Given the description of an element on the screen output the (x, y) to click on. 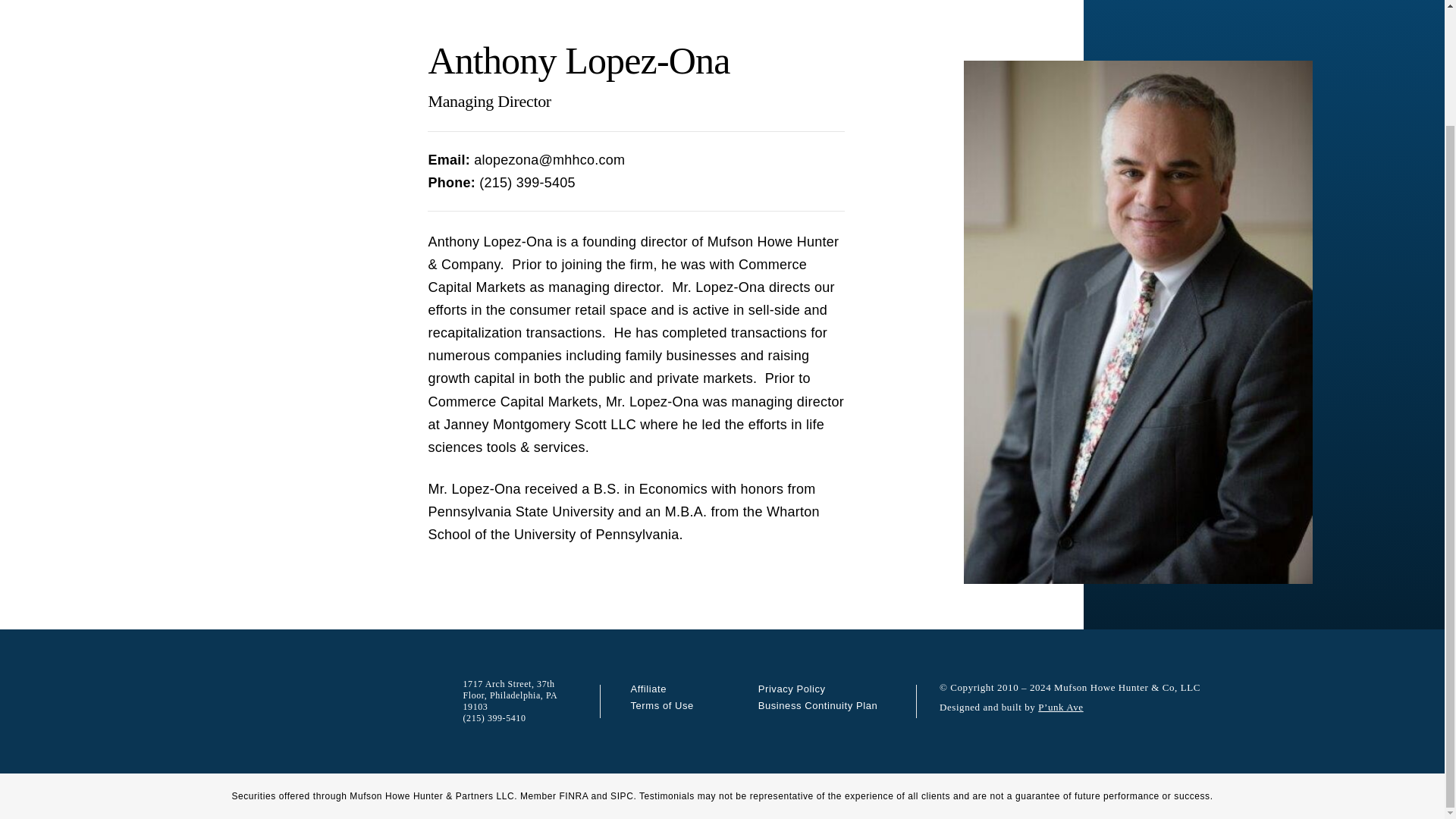
Privacy Policy (791, 688)
Affiliate (648, 688)
Business Continuity Plan (817, 705)
Left Arrow Back to all (636, 2)
Terms of Use (662, 705)
